Given the description of an element on the screen output the (x, y) to click on. 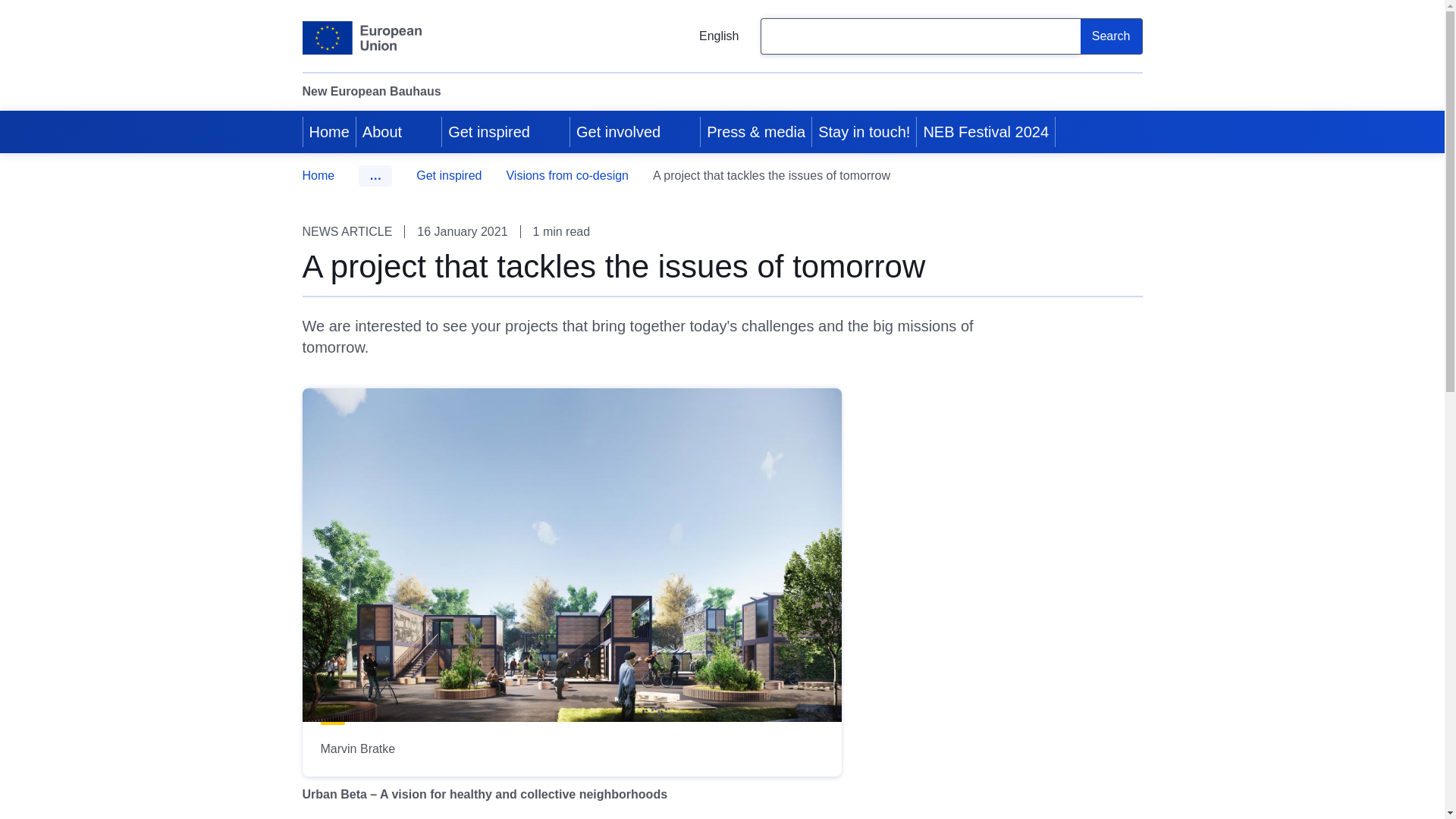
Get inspired (487, 131)
Home (328, 131)
About (380, 131)
Search (1111, 36)
English (706, 36)
Get involved (616, 131)
European Union (361, 37)
